Given the description of an element on the screen output the (x, y) to click on. 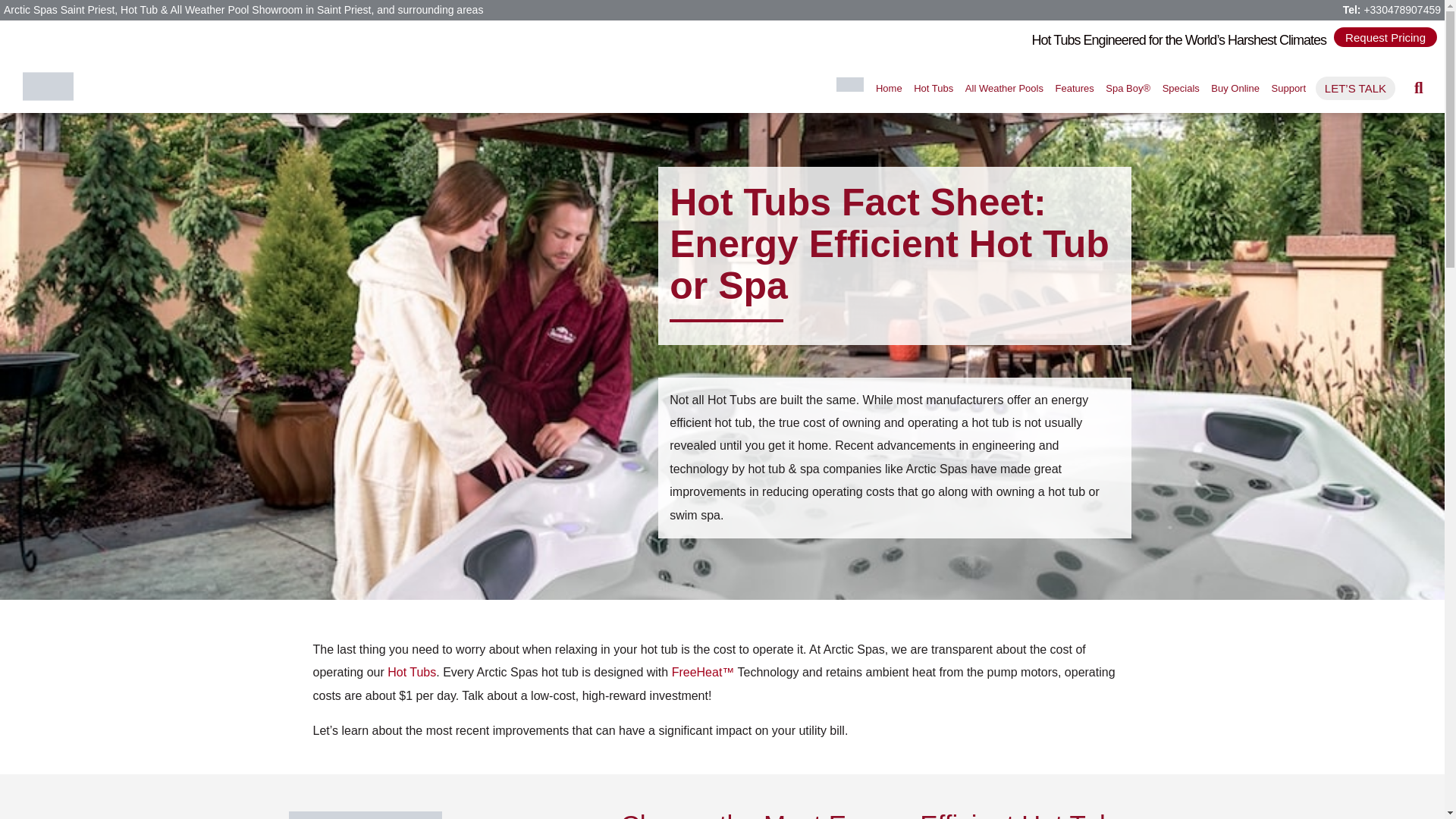
Buy Online (1235, 88)
Return to the home page (888, 88)
Choose Your Location (849, 88)
Request Pricing (1385, 36)
Features (1074, 88)
Support (1287, 88)
All Weather Pools (1003, 88)
Choose Your Location (849, 83)
Specials (1180, 88)
Hot Tubs (933, 88)
Home (888, 88)
